Given the description of an element on the screen output the (x, y) to click on. 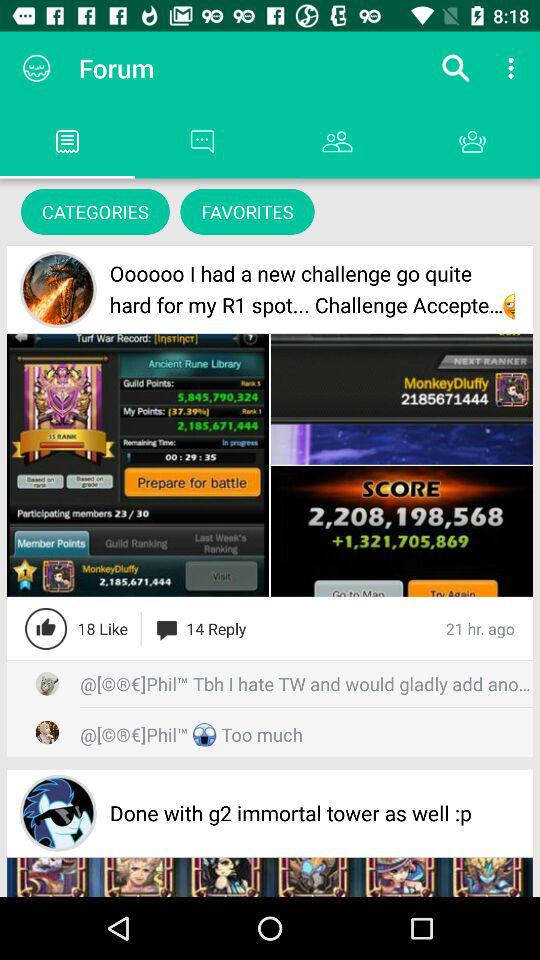
like the post (46, 628)
